Given the description of an element on the screen output the (x, y) to click on. 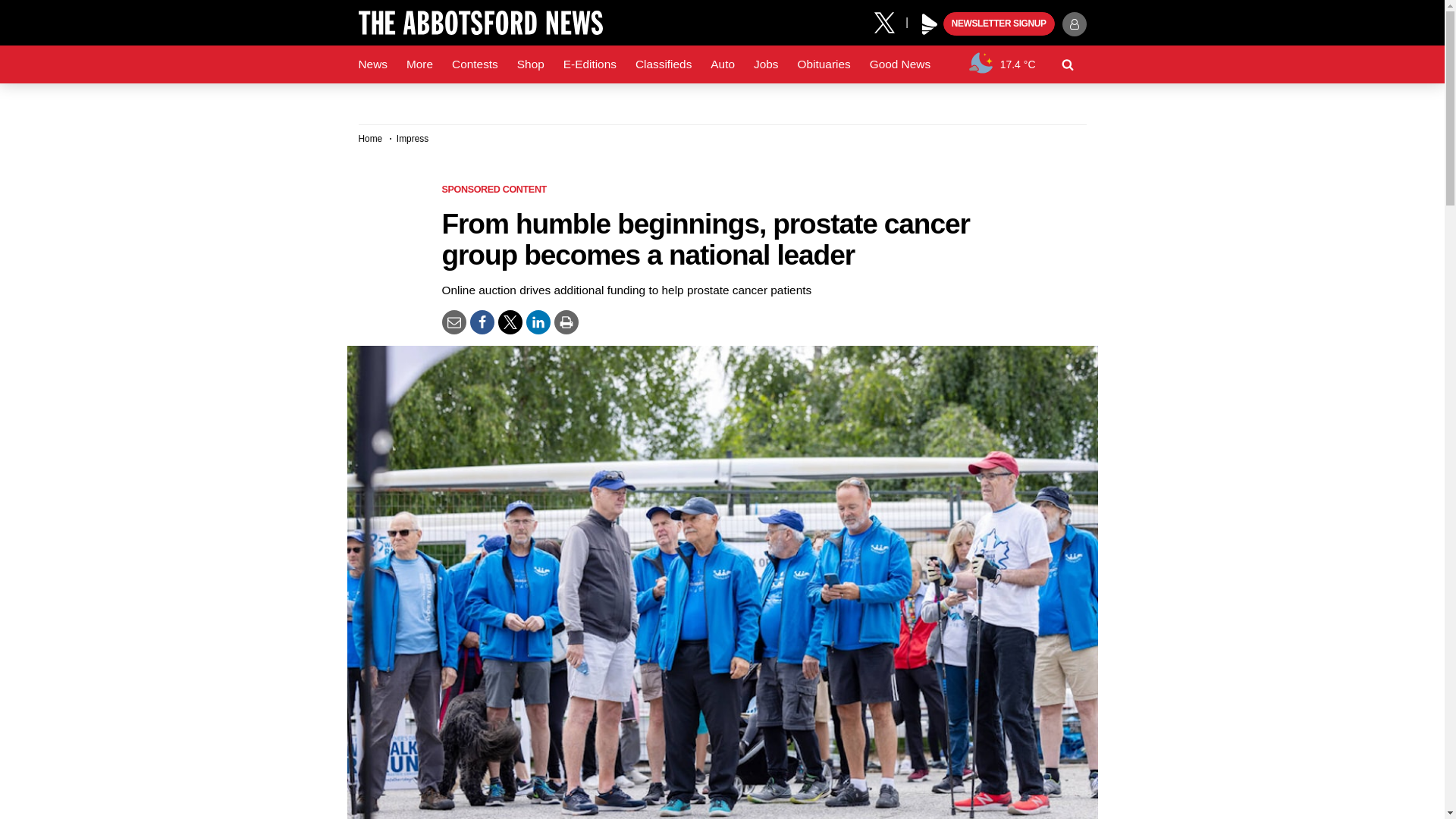
NEWSLETTER SIGNUP (998, 24)
X (889, 21)
Play (929, 24)
Black Press Media (929, 24)
News (372, 64)
